Given the description of an element on the screen output the (x, y) to click on. 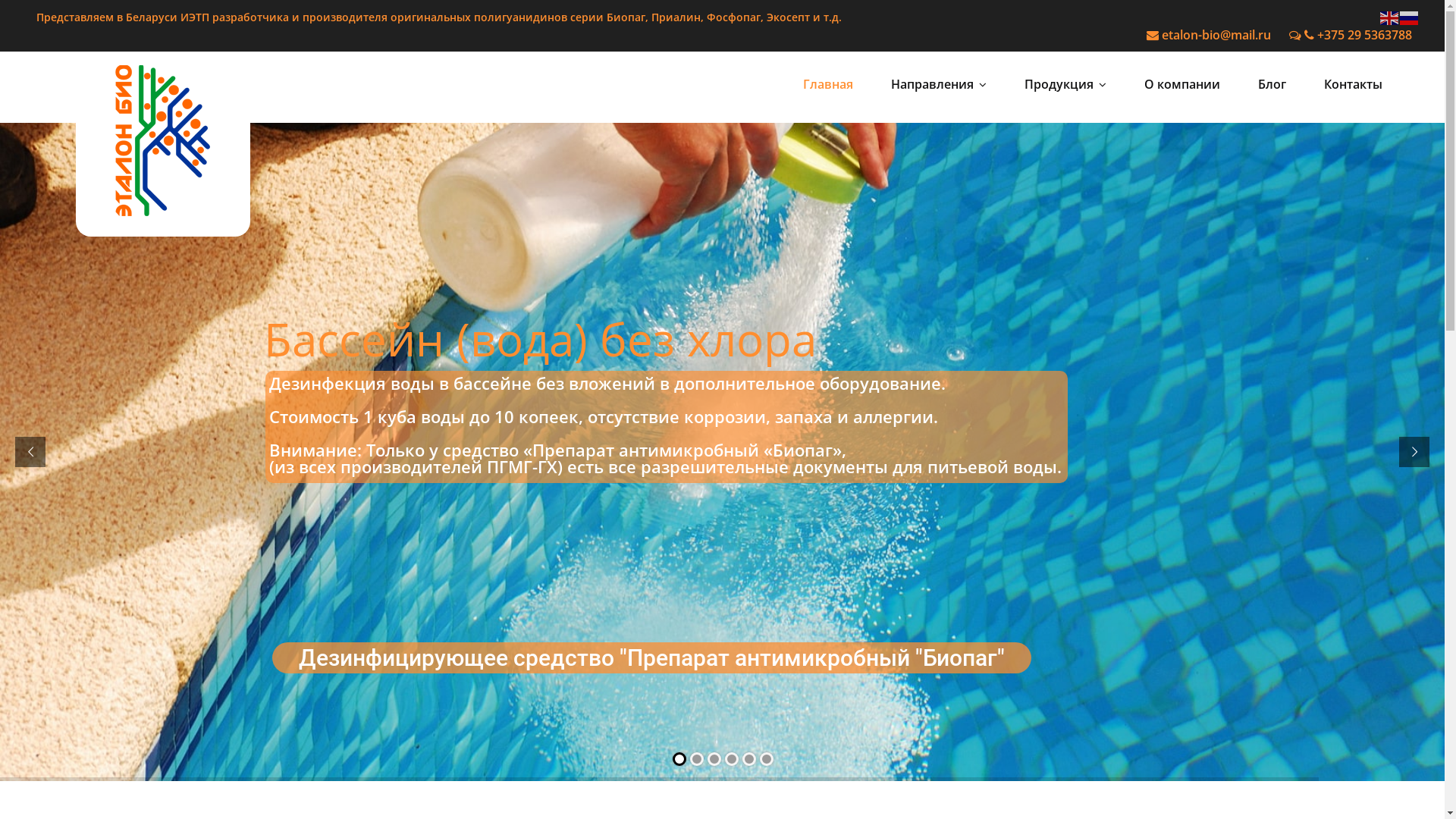
+375 29 5363788 Element type: text (1350, 34)
Russian Element type: hover (1409, 16)
etalon-bio@mail.ru Element type: text (1208, 34)
English Element type: hover (1389, 16)
